Given the description of an element on the screen output the (x, y) to click on. 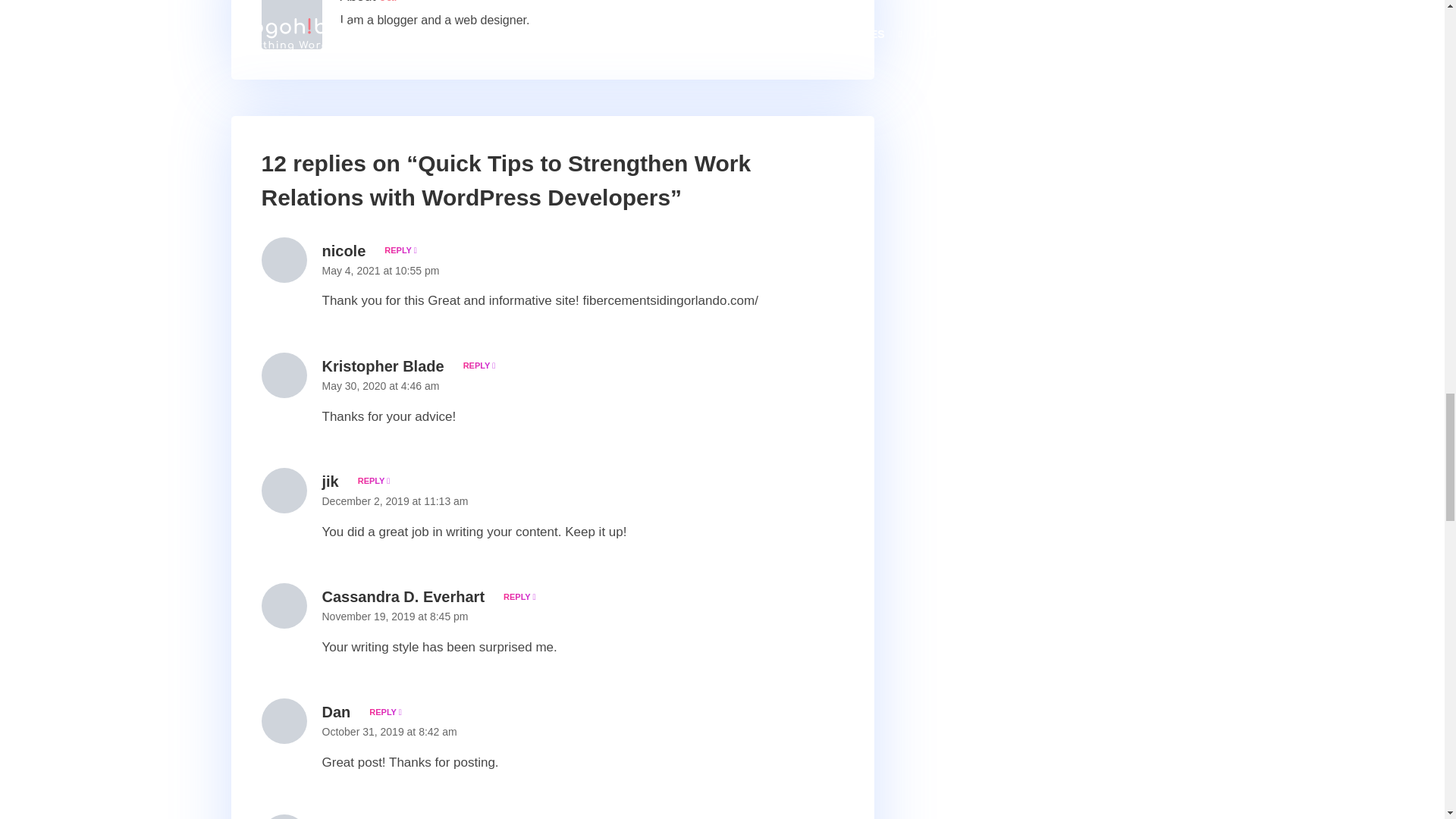
REPLY (476, 365)
December 2, 2019 at 11:13 am (394, 500)
November 19, 2019 at 8:45 pm (394, 616)
October 31, 2019 at 8:42 am (389, 731)
October 31, 2019 at 8:42 am (389, 731)
Jai (388, 2)
May 4, 2021 at 10:55 pm (380, 270)
REPLY (516, 596)
May 4, 2021 at 10:55 pm (380, 270)
REPLY (371, 480)
